Given the description of an element on the screen output the (x, y) to click on. 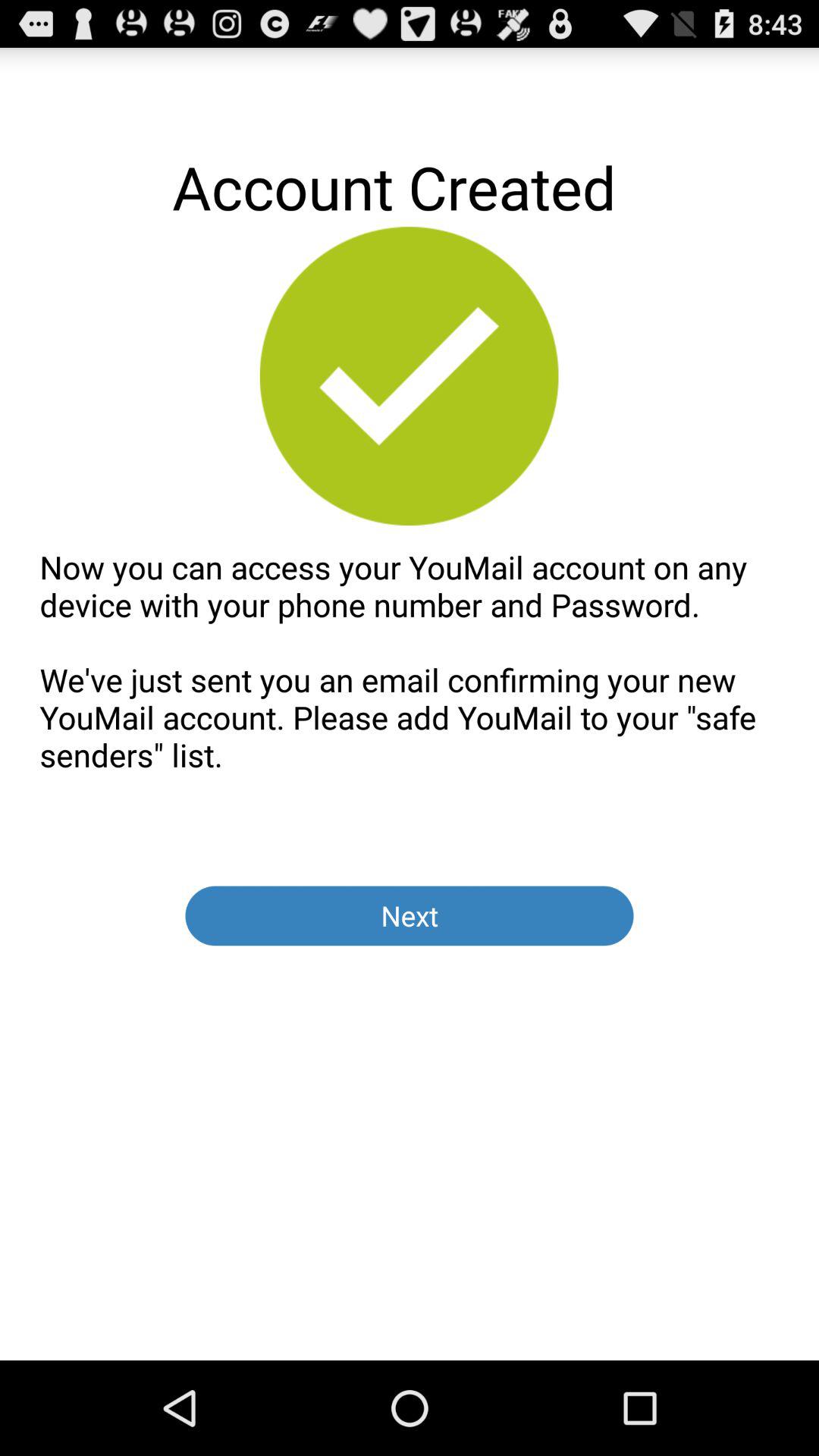
swipe to the next button (409, 915)
